Given the description of an element on the screen output the (x, y) to click on. 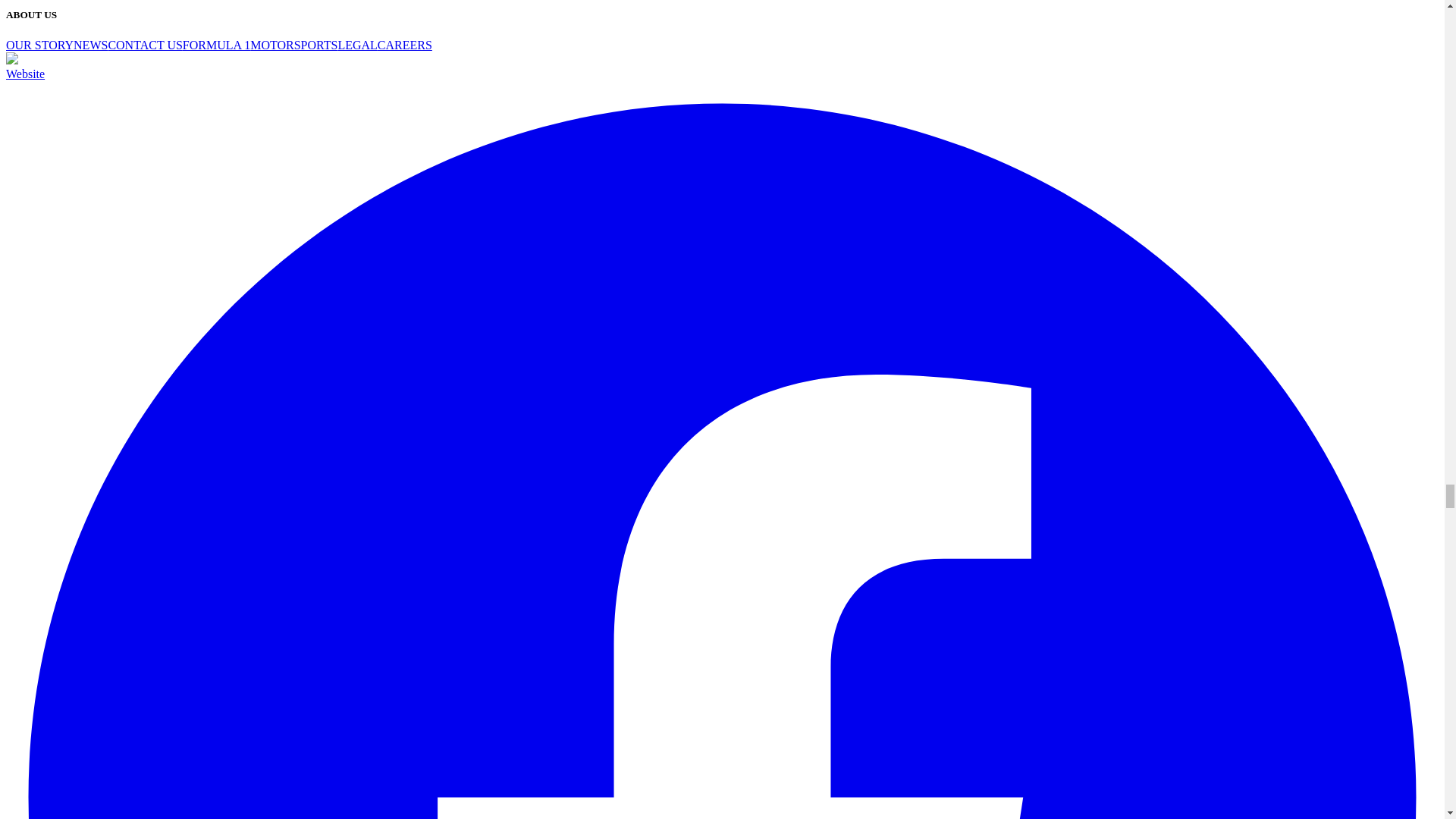
CONTACT US (144, 44)
LEGAL (357, 44)
CAREERS (404, 44)
OUR STORY (39, 44)
Website (25, 73)
FORMULA 1 (216, 44)
MOTORSPORTS (293, 44)
NEWS (90, 44)
